Given the description of an element on the screen output the (x, y) to click on. 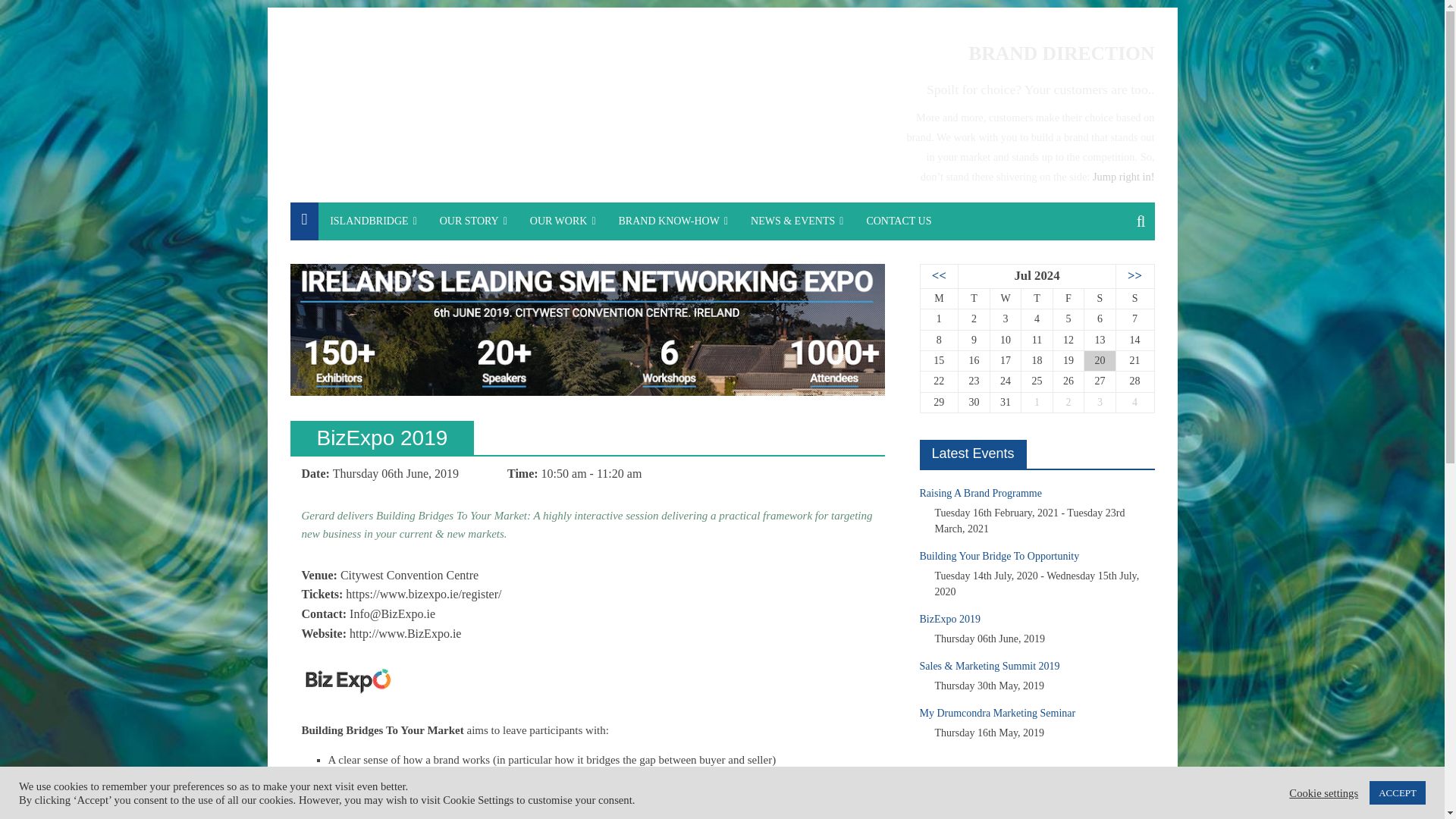
Raising A Brand Programme (979, 492)
CONTACT US (898, 221)
OUR STORY (473, 221)
BizExpo 2019 (948, 618)
Jump right in! (1123, 176)
Building Your Bridge To Opportunity (998, 555)
Jump right in! (1123, 176)
ISLANDBRIDGE (373, 221)
BRAND KNOW-HOW (673, 221)
OUR WORK (562, 221)
